Given the description of an element on the screen output the (x, y) to click on. 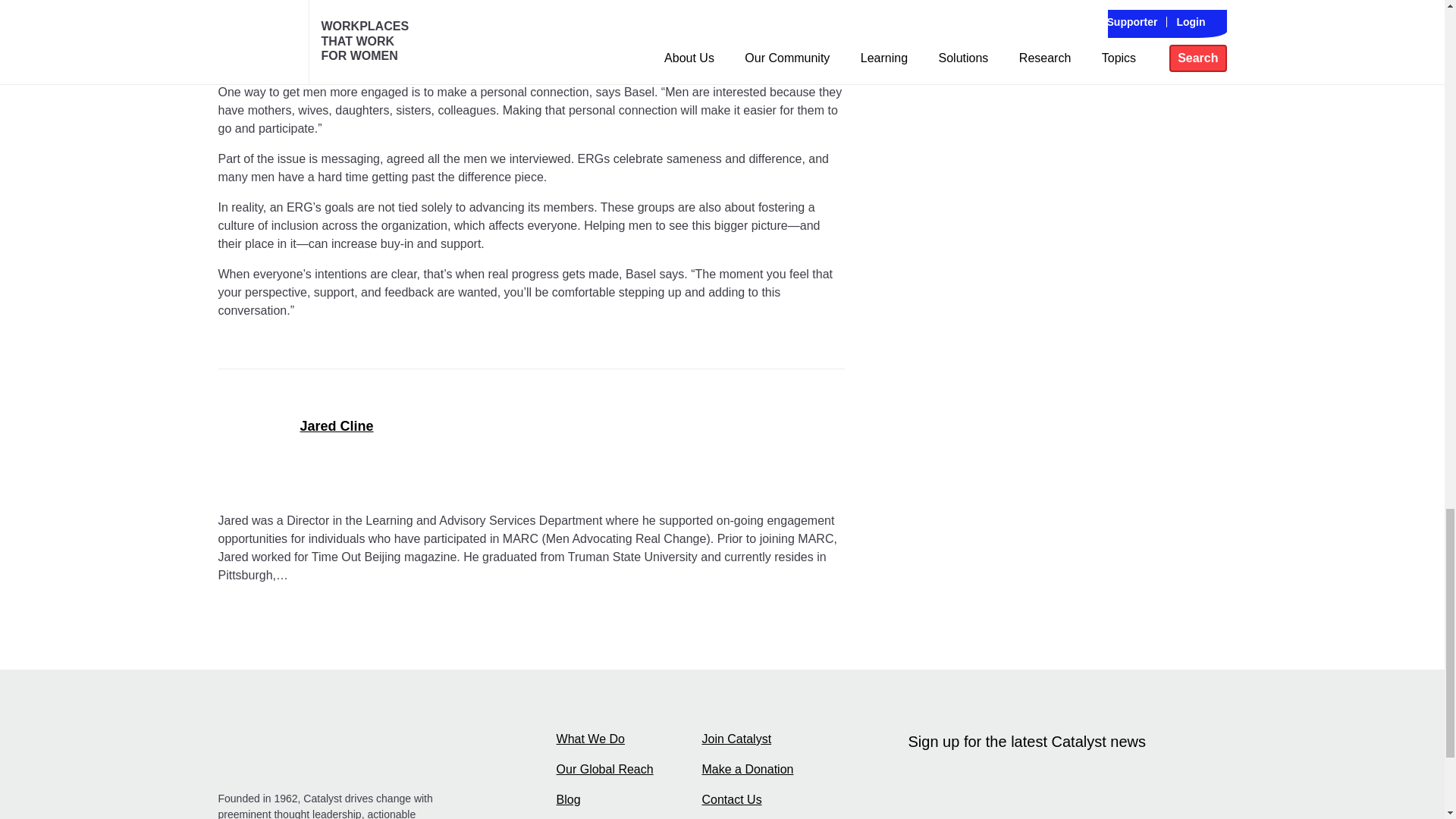
Home (330, 754)
